Given the description of an element on the screen output the (x, y) to click on. 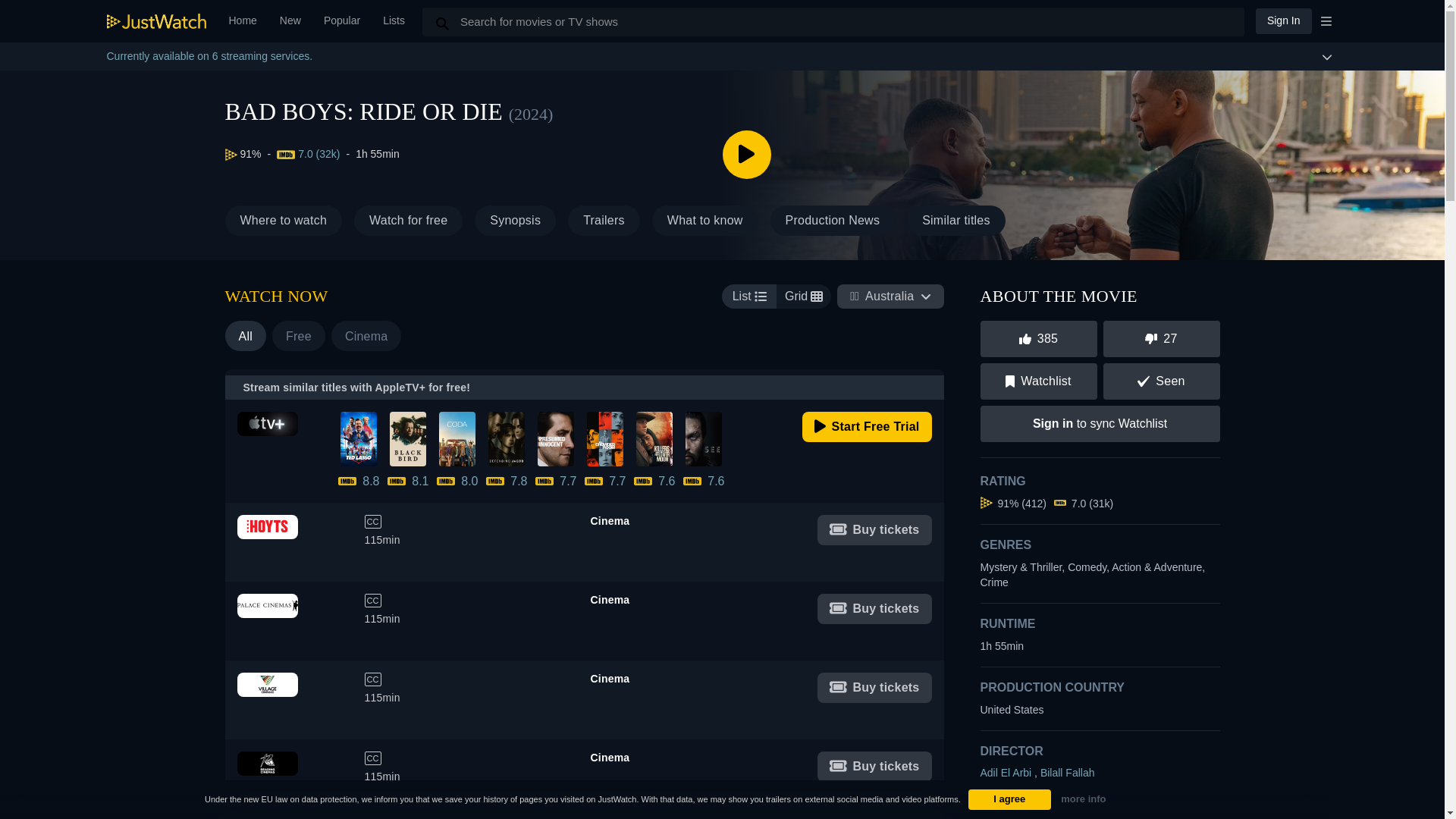
Popular (583, 541)
Lists (342, 21)
Home (393, 21)
Sign In (241, 21)
Similar titles (1283, 20)
Buy tickets (956, 220)
Start Free Trial (408, 220)
Synopsis (873, 687)
Free (866, 426)
What to know (515, 220)
All (298, 336)
